Given the description of an element on the screen output the (x, y) to click on. 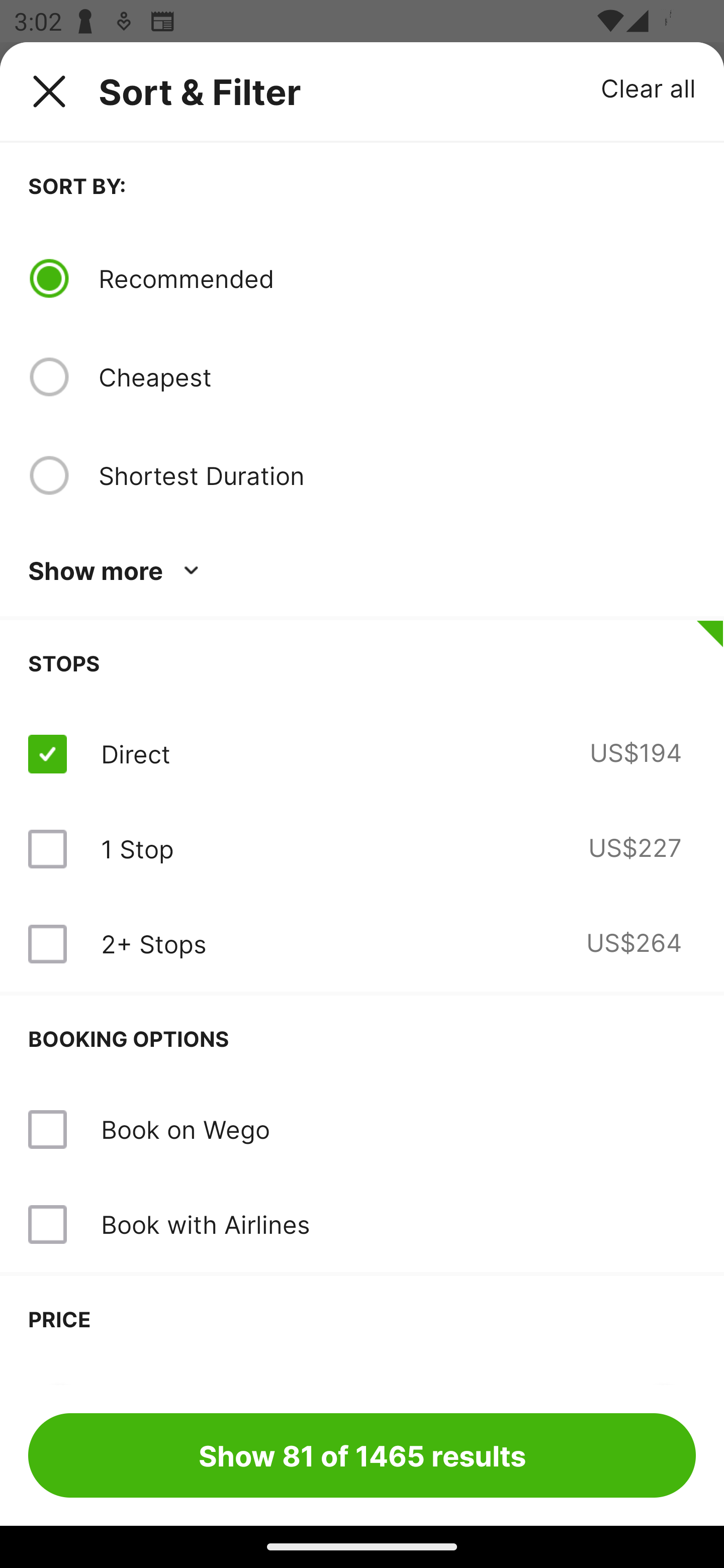
Clear all (648, 87)
Recommended  (396, 278)
Cheapest (396, 377)
Shortest Duration (396, 474)
Show more (116, 570)
Direct US$194 (362, 754)
Direct (135, 753)
1 Stop US$227 (362, 848)
1 Stop (136, 849)
2+ Stops US$264 (362, 943)
2+ Stops (153, 943)
Book on Wego (362, 1129)
Book on Wego (184, 1128)
Book with Airlines (362, 1224)
Book with Airlines (204, 1224)
Show 81 of 1465 results (361, 1454)
